Given the description of an element on the screen output the (x, y) to click on. 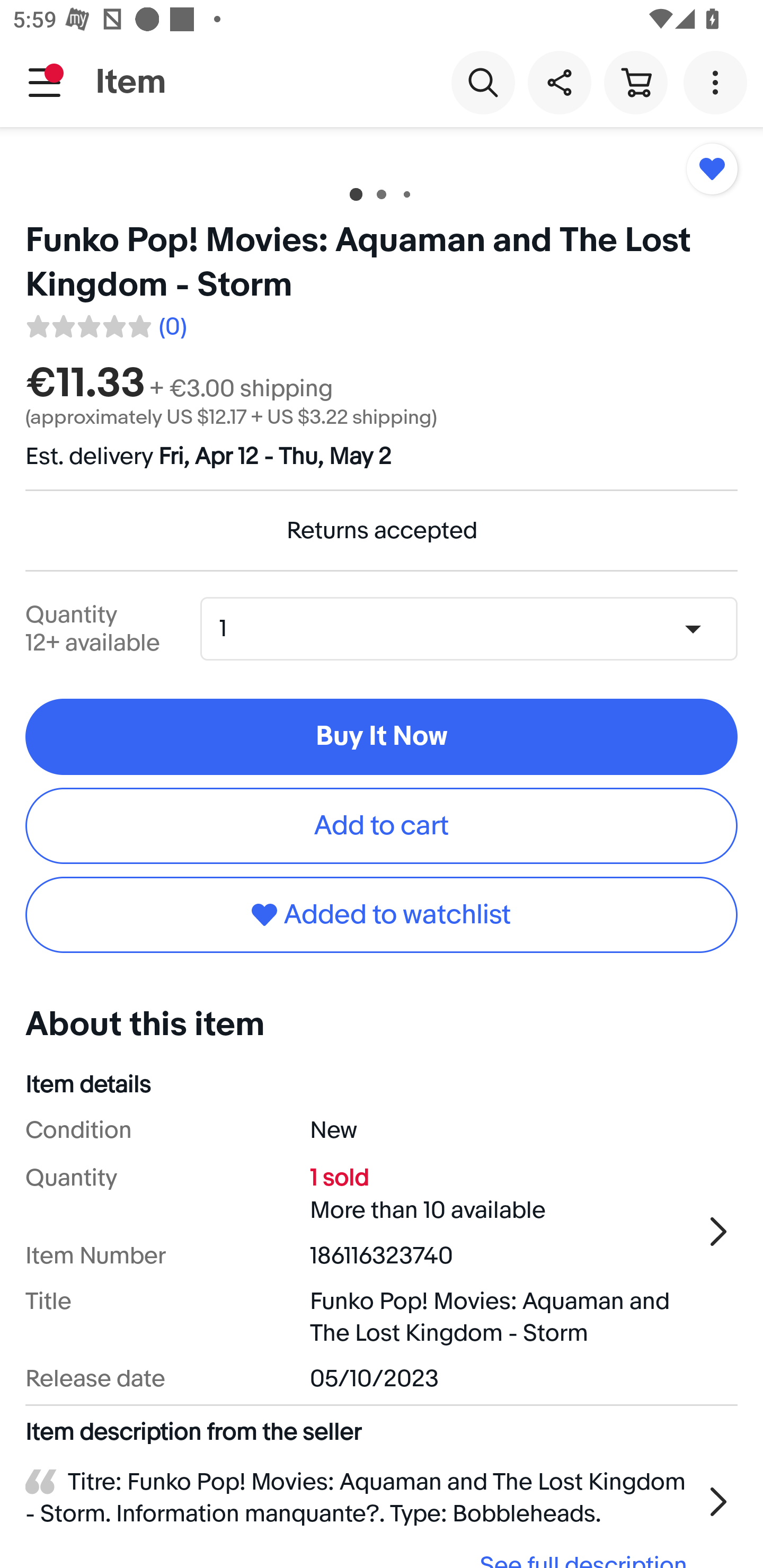
Main navigation, notification is pending, open (44, 82)
Search (482, 81)
Share this item (559, 81)
Cart button shopping cart (635, 81)
More options (718, 81)
Added to watchlist (711, 168)
0 reviews. Average rating 0.0 out of five 0.0 (0) (105, 322)
Quantity,1,12+ available 1 (474, 628)
Buy It Now (381, 736)
Add to cart (381, 825)
Added to watchlist (381, 914)
